Given the description of an element on the screen output the (x, y) to click on. 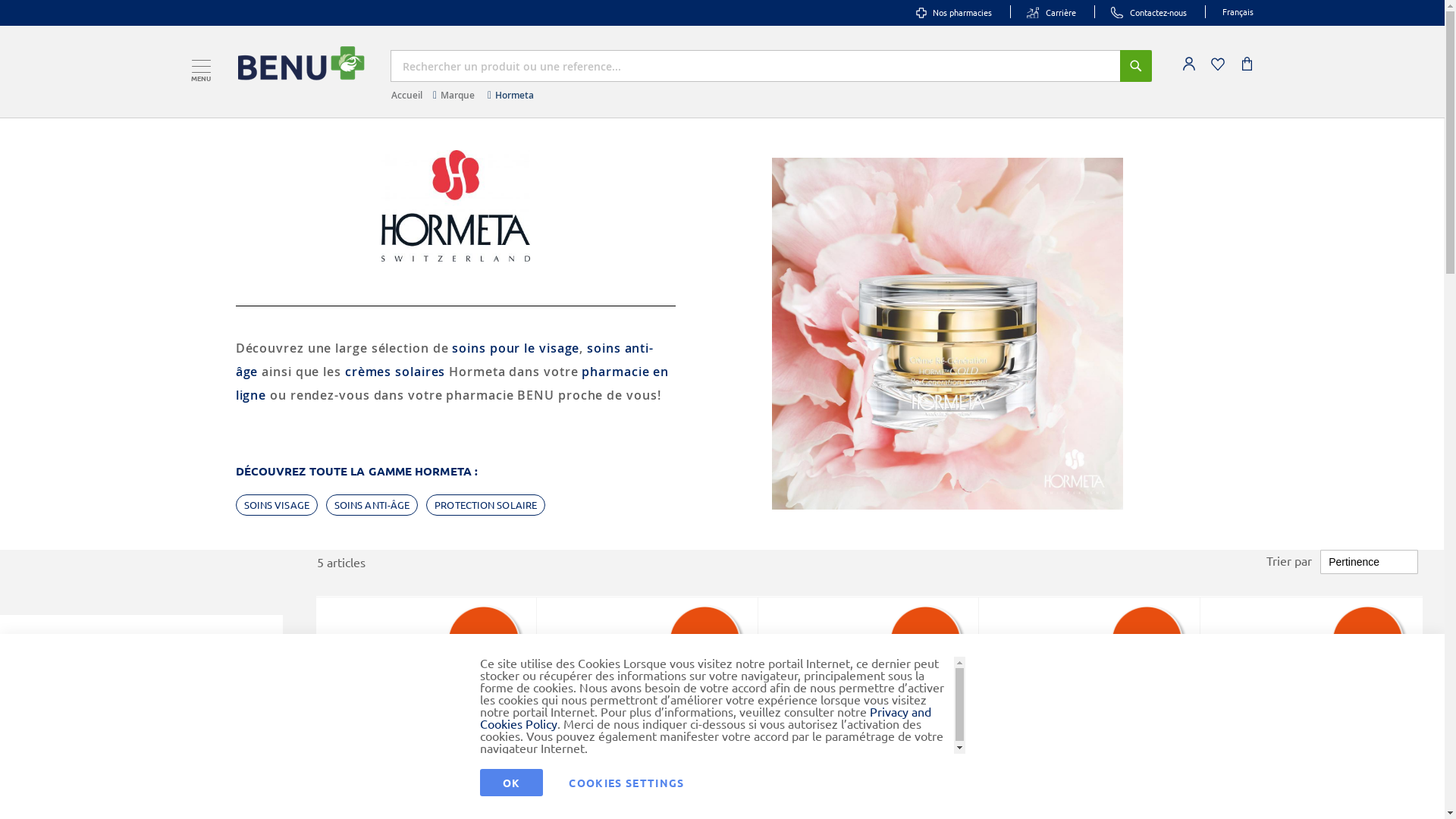
Mon panier Element type: text (1248, 63)
soins pour le visage Element type: text (515, 347)
10% Element type: hover (1368, 643)
Contactez-nous Element type: text (1148, 12)
pharmacie en ligne Element type: text (452, 383)
10% Element type: hover (706, 643)
OK Element type: text (510, 782)
Chercher Element type: text (1135, 65)
Ma liste d'achats Element type: text (1216, 63)
Protection solaire Hormeta 1
article Element type: text (129, 696)
MENU Element type: text (200, 65)
Marque Element type: text (457, 94)
Privacy and Cookies Policy Element type: text (704, 717)
Mon compte Element type: text (1188, 63)
COOKIES SETTINGS Element type: text (626, 782)
Nos pharmacies Element type: text (953, 12)
10% Element type: hover (484, 643)
PROTECTION SOLAIRE Element type: text (485, 504)
10% Element type: hover (1148, 643)
10% Element type: hover (926, 643)
SOINS VISAGE Element type: text (276, 504)
Accueil Element type: text (406, 94)
